Given the description of an element on the screen output the (x, y) to click on. 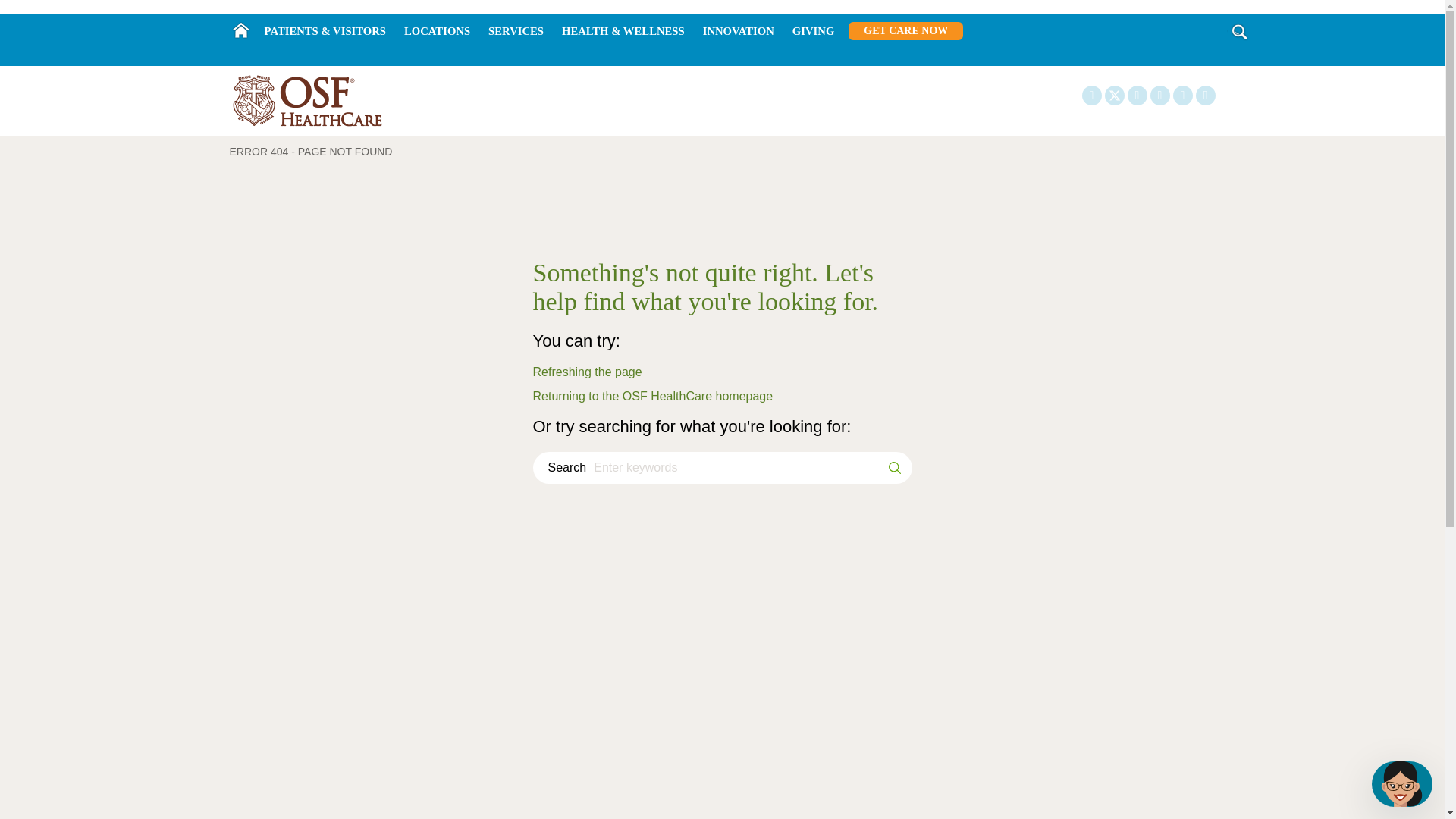
Search (1238, 31)
HOME (239, 30)
LOCATIONS (436, 31)
SERVICES (516, 31)
